Given the description of an element on the screen output the (x, y) to click on. 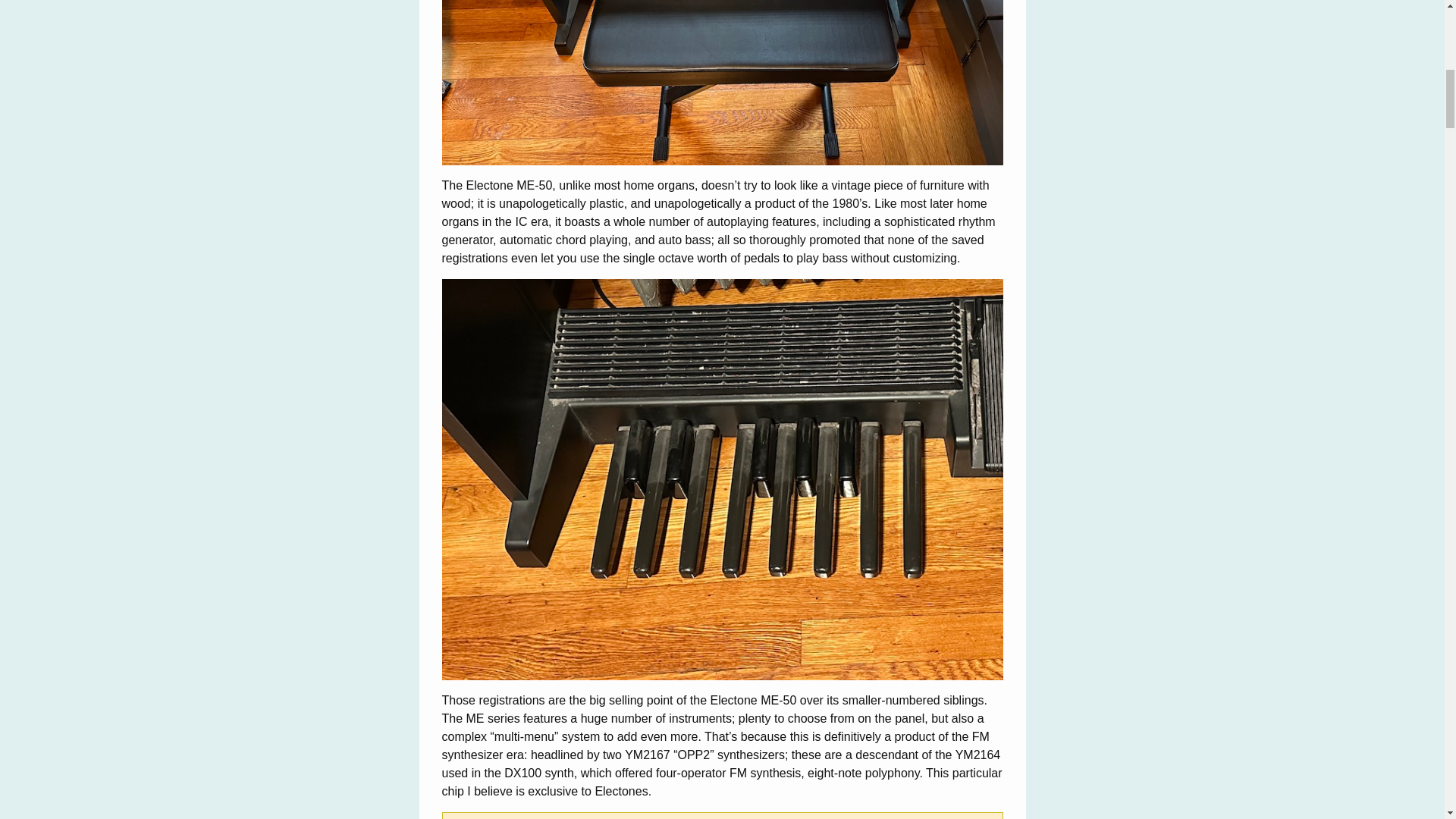
Ironically woodgrain would actually look great in this room (722, 82)
